Given the description of an element on the screen output the (x, y) to click on. 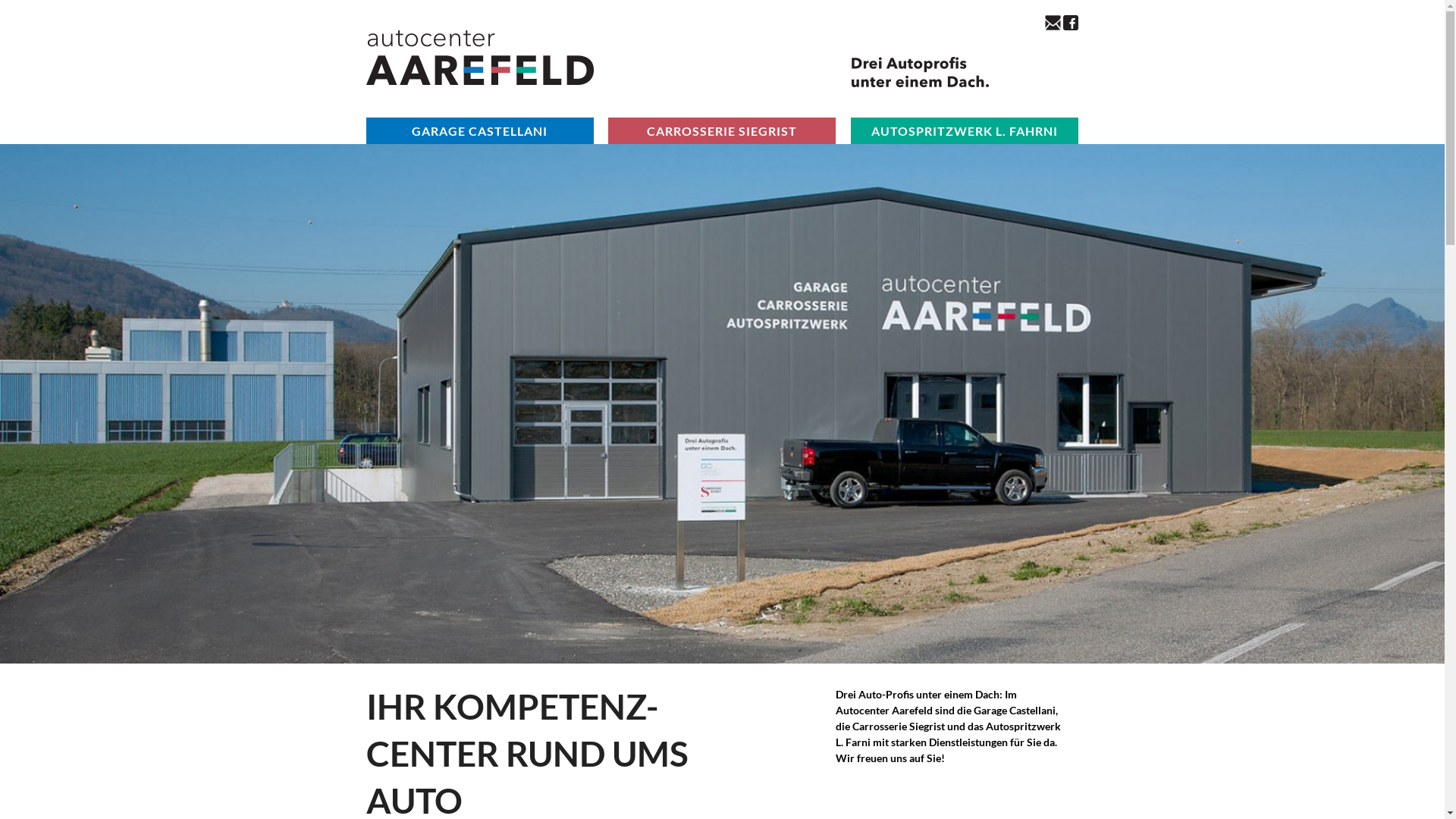
AUTOSPRITZWERK L. FAHRNI Element type: text (964, 130)
Autocenter Aarefeld Garage Element type: hover (722, 403)
GARAGE CASTELLANI Element type: text (479, 130)
CARROSSERIE SIEGRIST Element type: text (721, 130)
Drei Autoprofis unter einem Dach Element type: hover (920, 71)
